Given the description of an element on the screen output the (x, y) to click on. 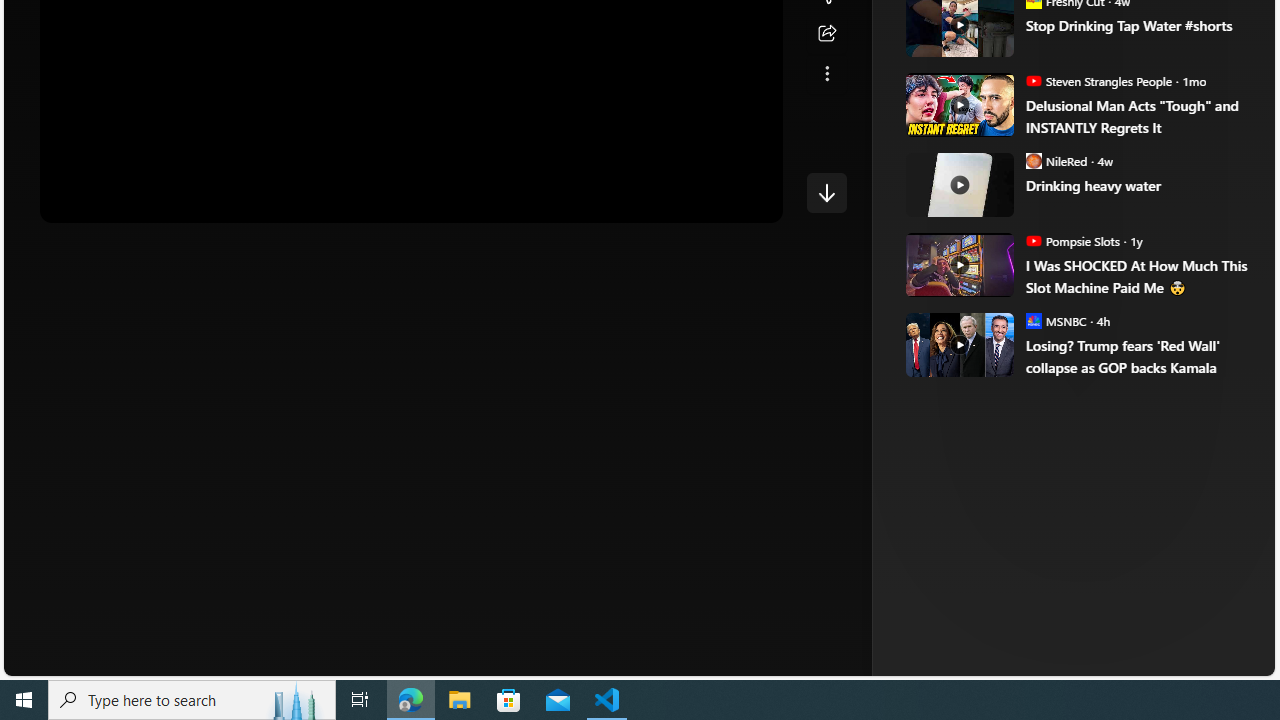
Delusional Man Acts "Tough" and INSTANTLY Regrets It (958, 104)
Steven Strangles People (1033, 80)
Share this story (826, 33)
Ad Choice (1212, 336)
Steven Strangles People Steven Strangles People (1098, 80)
Ad (963, 337)
Share this story (826, 33)
See more (826, 74)
Pompsie Slots Pompsie Slots (1072, 240)
Drinking heavy water (958, 183)
